Given the description of an element on the screen output the (x, y) to click on. 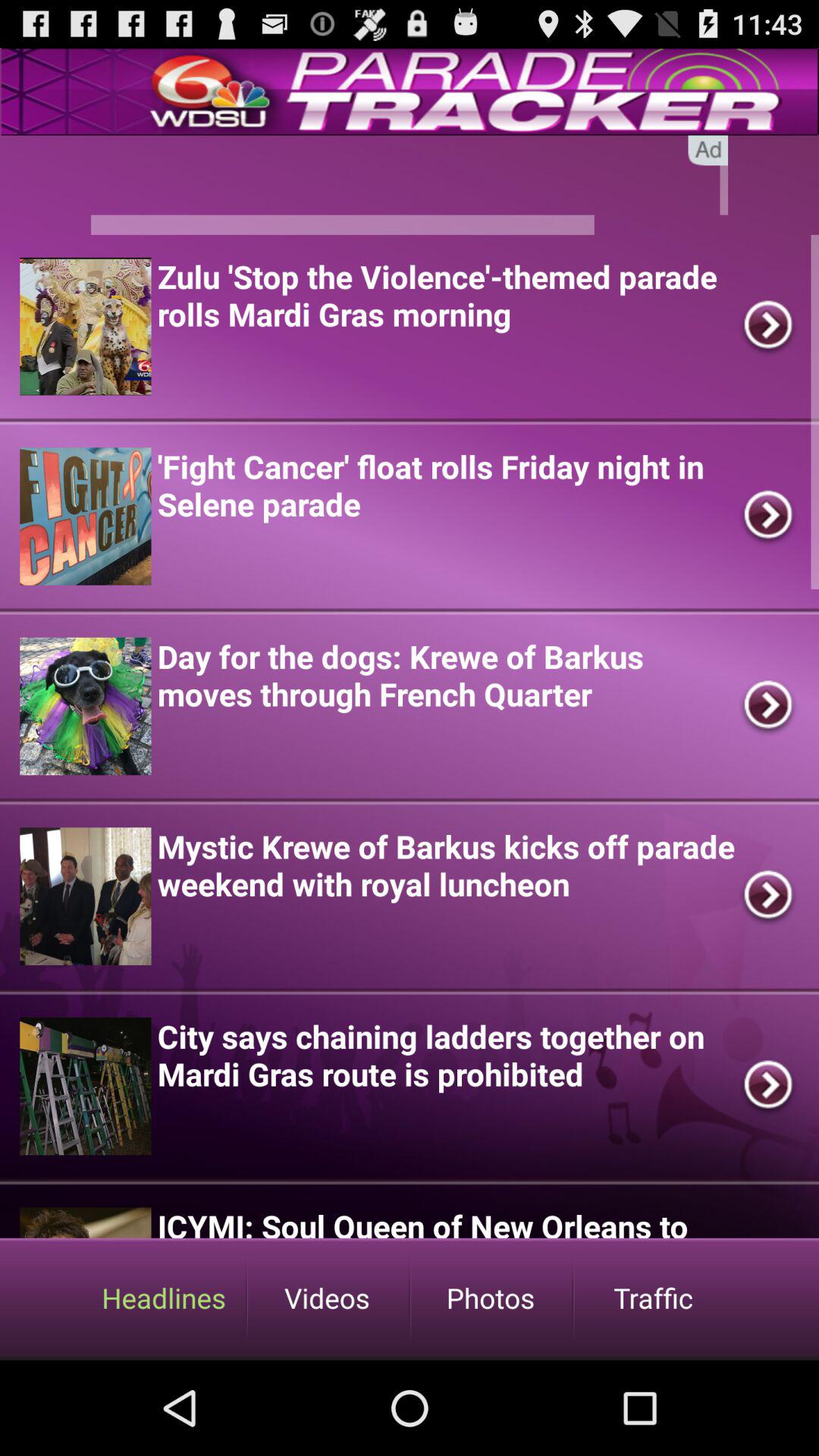
advertisement link (409, 184)
